Given the description of an element on the screen output the (x, y) to click on. 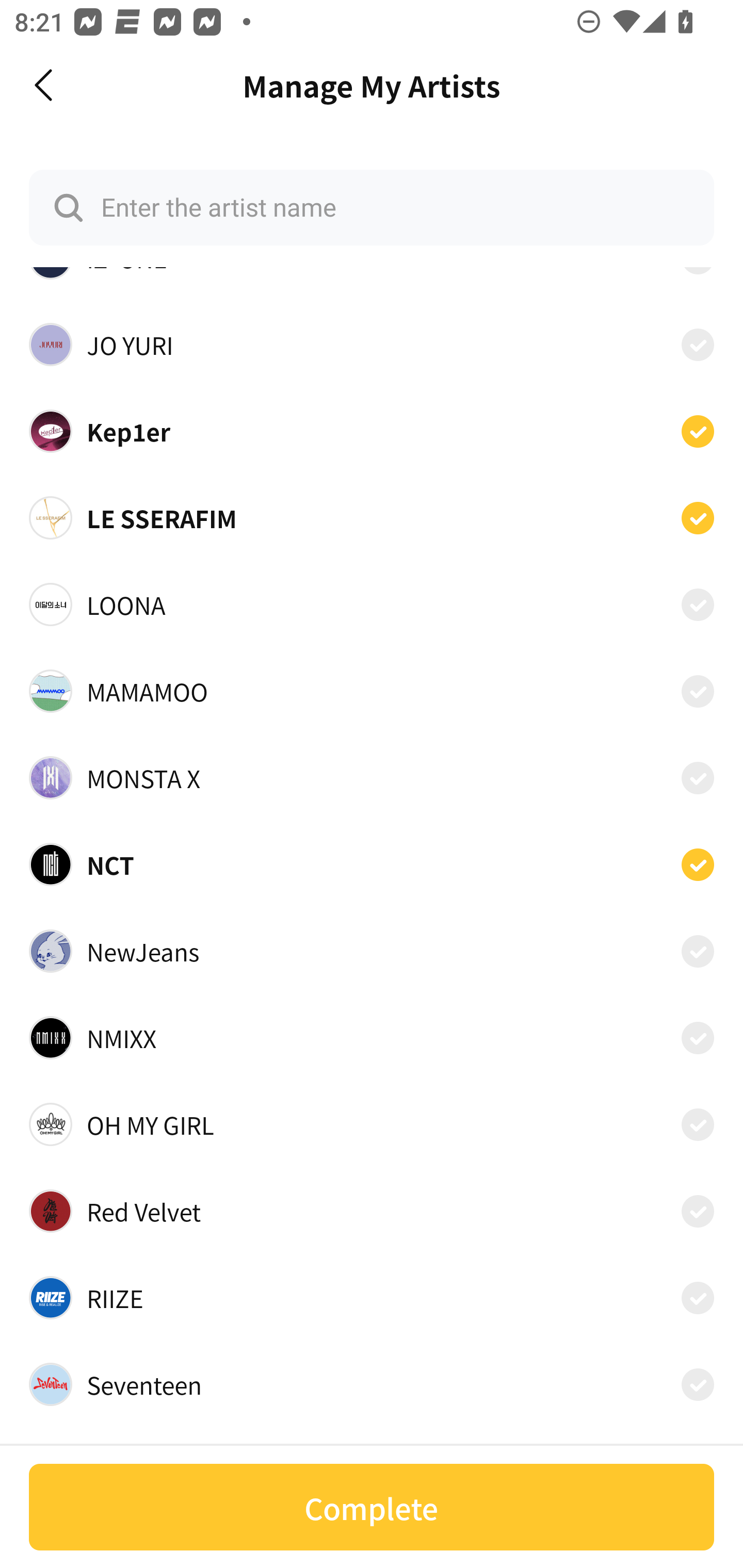
Enter the artist name (371, 207)
JO YURI (371, 344)
Kep1er (371, 431)
LE SSERAFIM (371, 517)
LOONA (371, 604)
MAMAMOO (371, 691)
MONSTA X (371, 777)
NCT (371, 864)
NewJeans (371, 950)
NMIXX (371, 1037)
OH MY GIRL (371, 1124)
Red Velvet (371, 1211)
RIIZE (371, 1297)
Seventeen (371, 1384)
Complete (371, 1507)
